Given the description of an element on the screen output the (x, y) to click on. 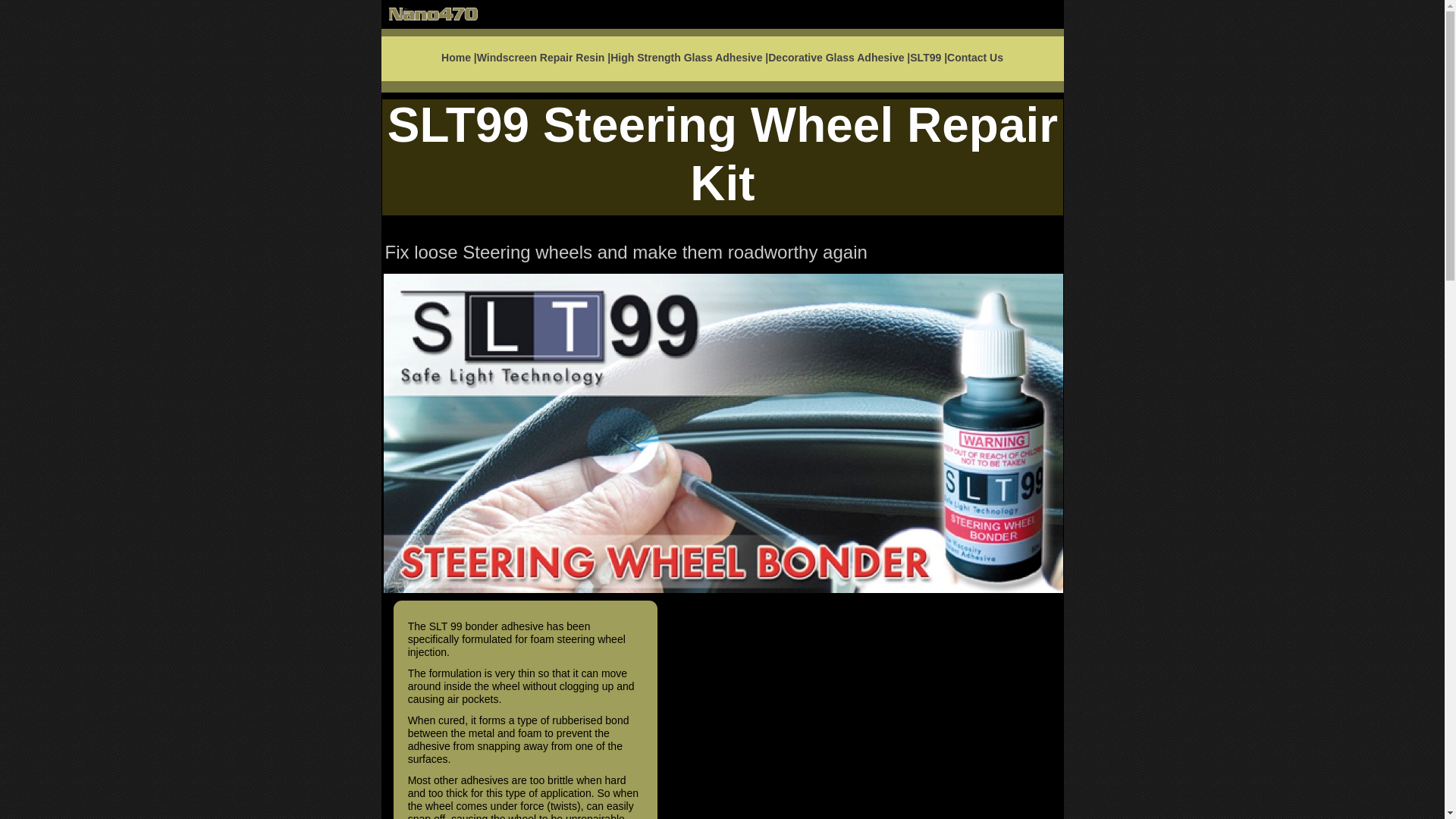
Home | Element type: text (458, 57)
High Strength Glass Adhesive | Element type: text (689, 57)
Decorative Glass Adhesive | Element type: text (839, 57)
Windscreen Repair Resin | Element type: text (543, 57)
SLT99 | Element type: text (928, 57)
Contact Us Element type: text (975, 57)
